Given the description of an element on the screen output the (x, y) to click on. 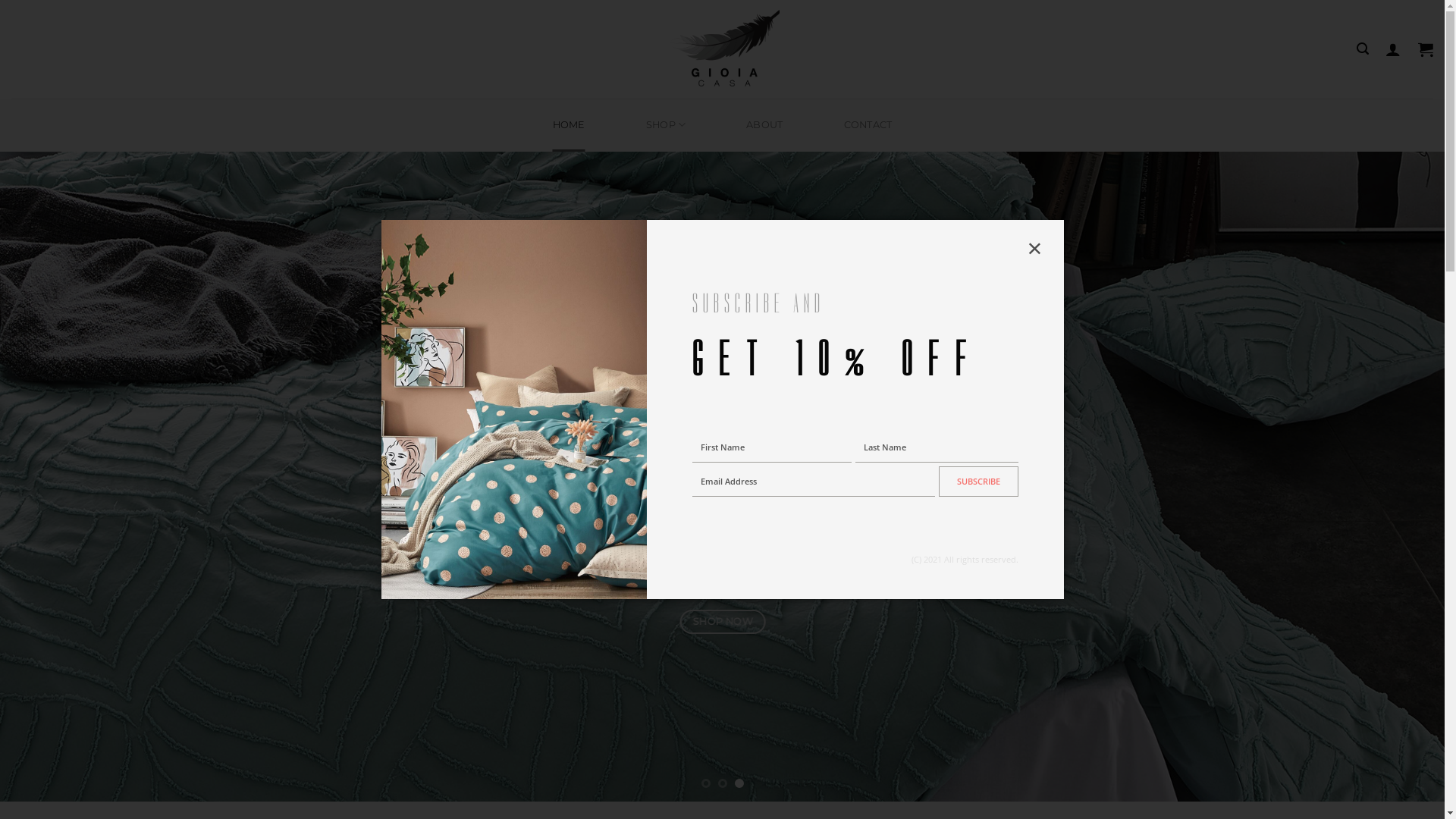
CONTACT Element type: text (867, 124)
Cart Element type: hover (1425, 48)
GIOIA CASA - Natural Fibres Bedding | Quilt Cover Set Element type: hover (721, 49)
SUBSCRIBE Element type: text (978, 481)
ABOUT Element type: text (764, 124)
HOME Element type: text (568, 124)
SHOP Element type: text (665, 124)
SHOP NOW Element type: text (722, 622)
